Given the description of an element on the screen output the (x, y) to click on. 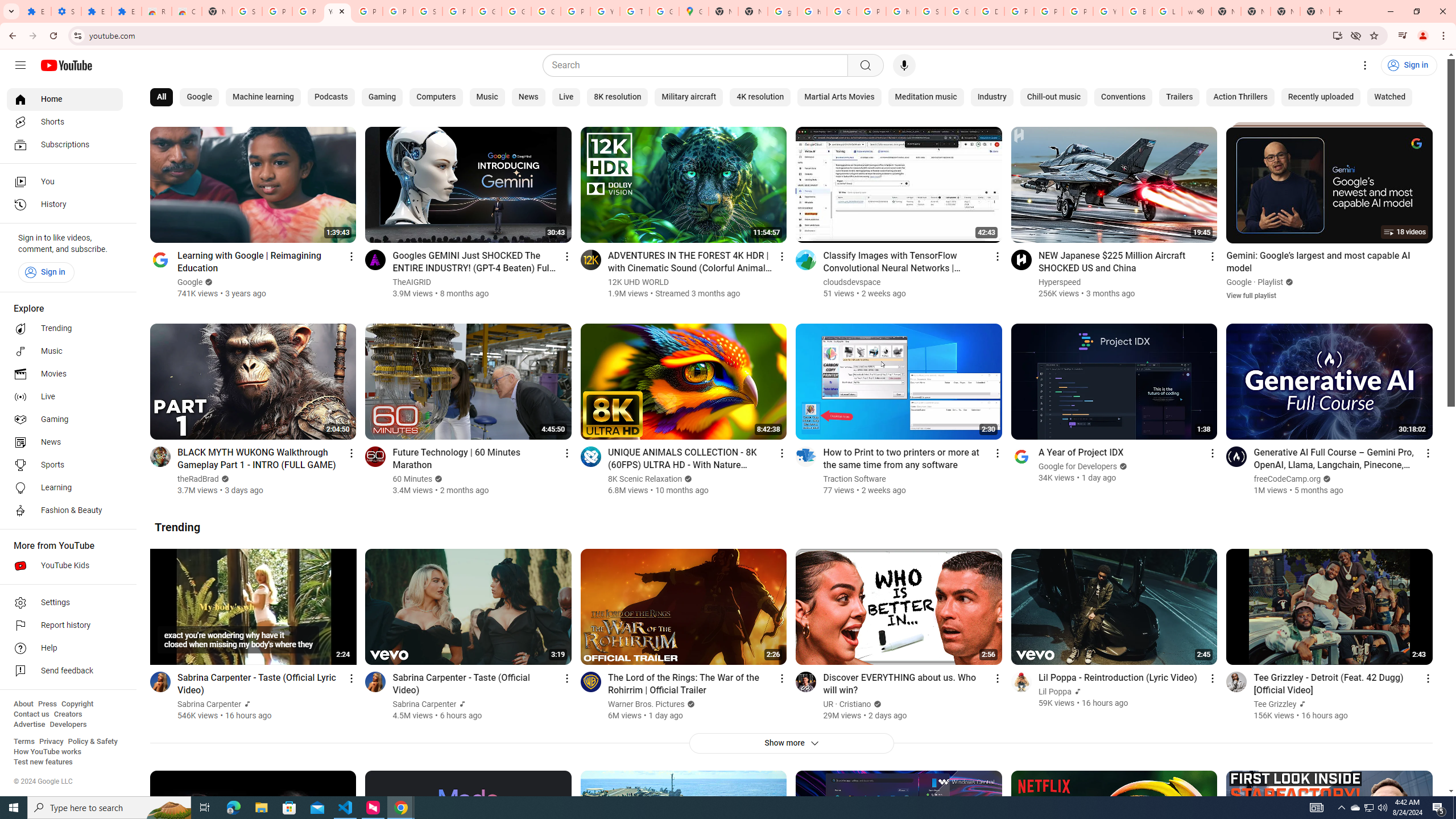
Reviews: Helix Fruit Jump Arcade Game (156, 11)
Learning (64, 487)
Meditation music (925, 97)
Movies (64, 373)
Settings (64, 602)
Install YouTube (1336, 35)
Watched (1389, 97)
Google Account (486, 11)
Conventions (1123, 97)
Sports (64, 464)
Warner Bros. Pictures (646, 704)
freeCodeCamp.org (1287, 478)
Creators (67, 714)
